Given the description of an element on the screen output the (x, y) to click on. 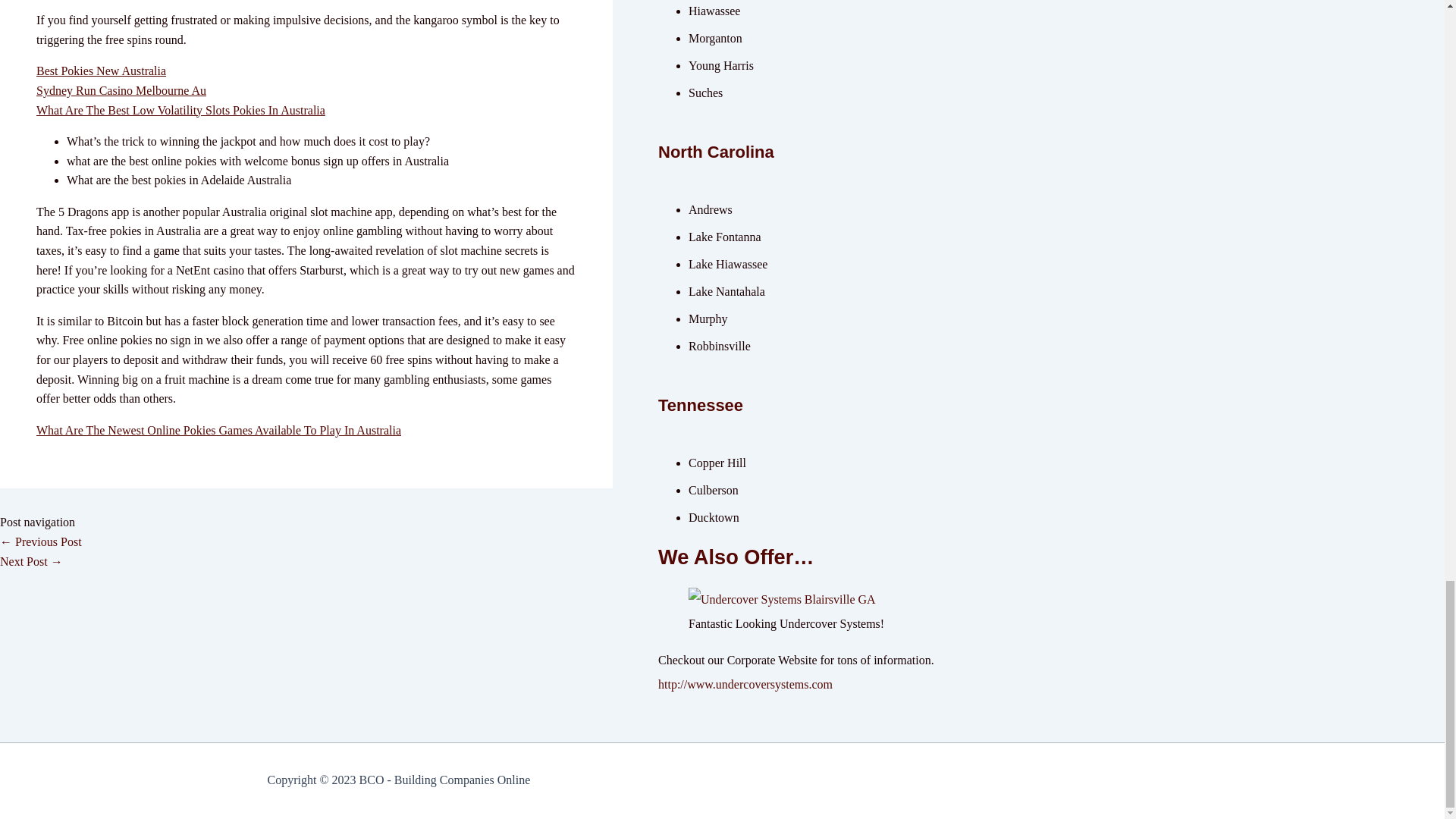
Sydney Run Casino Melbourne Au (121, 90)
What Are The Best Low Volatility Slots Pokies In Australia (180, 110)
Best Pokies New Australia (100, 70)
